Given the description of an element on the screen output the (x, y) to click on. 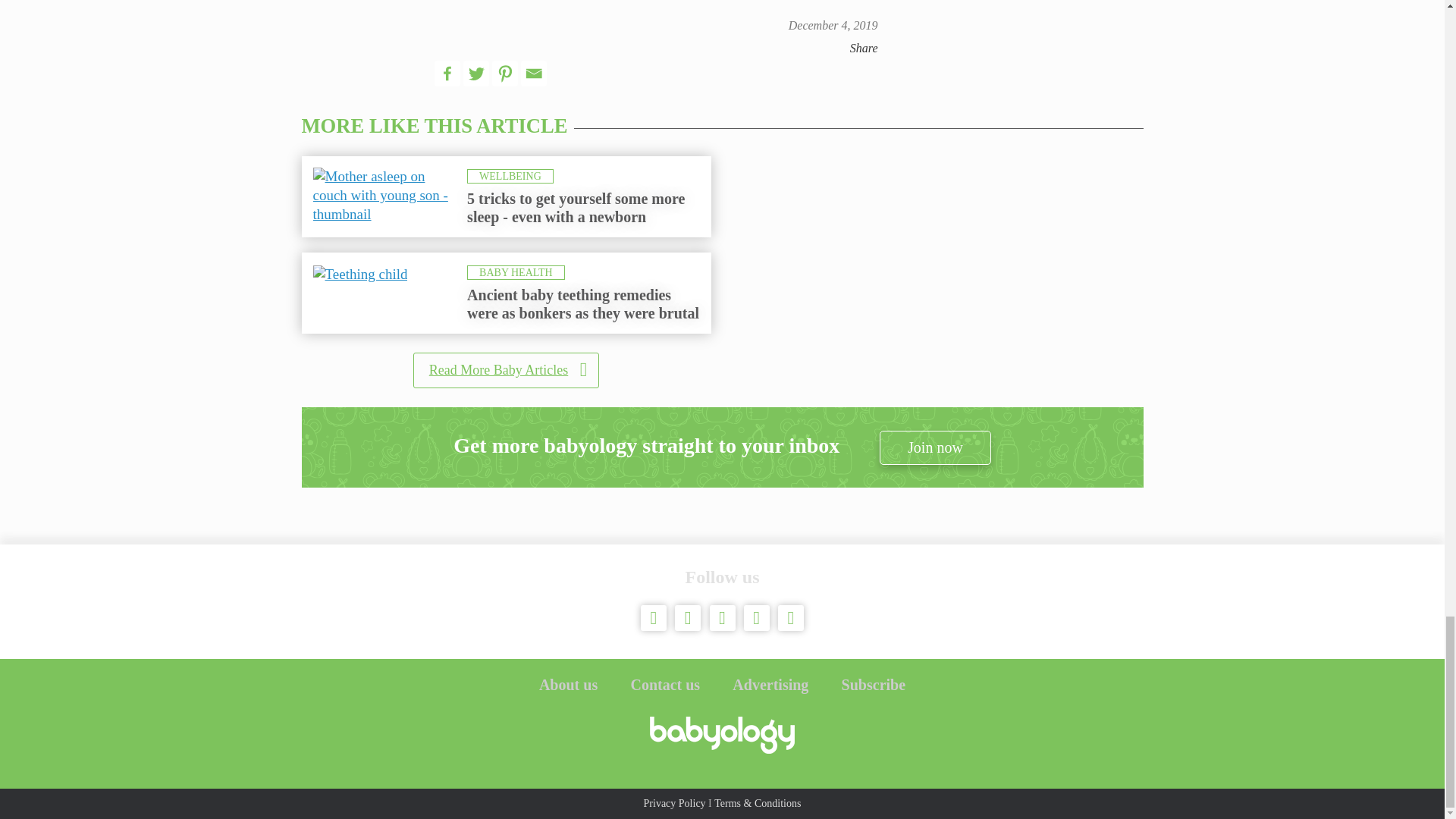
Facebook (446, 73)
1:08 pm (833, 24)
Twitter (476, 73)
Pinterest (505, 73)
